Given the description of an element on the screen output the (x, y) to click on. 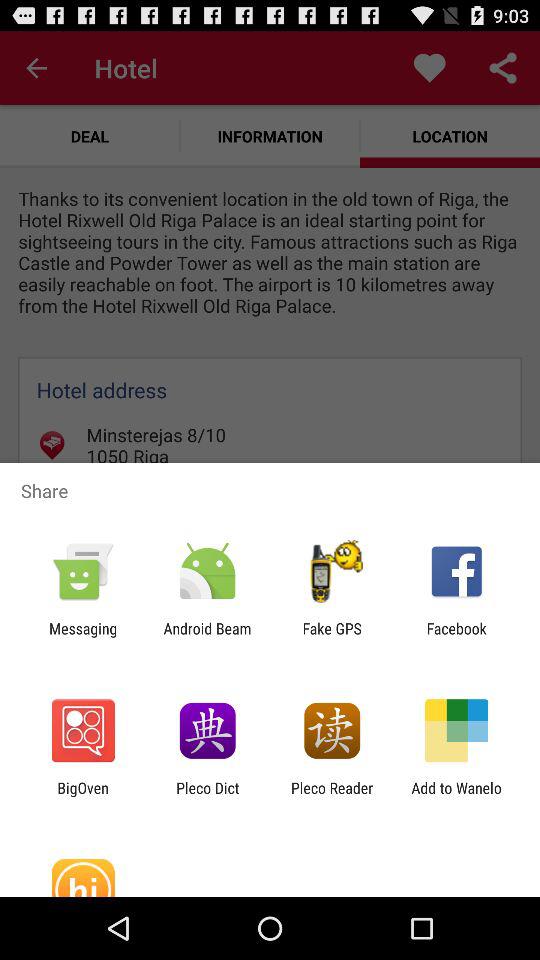
jump to the bigoven icon (82, 796)
